Given the description of an element on the screen output the (x, y) to click on. 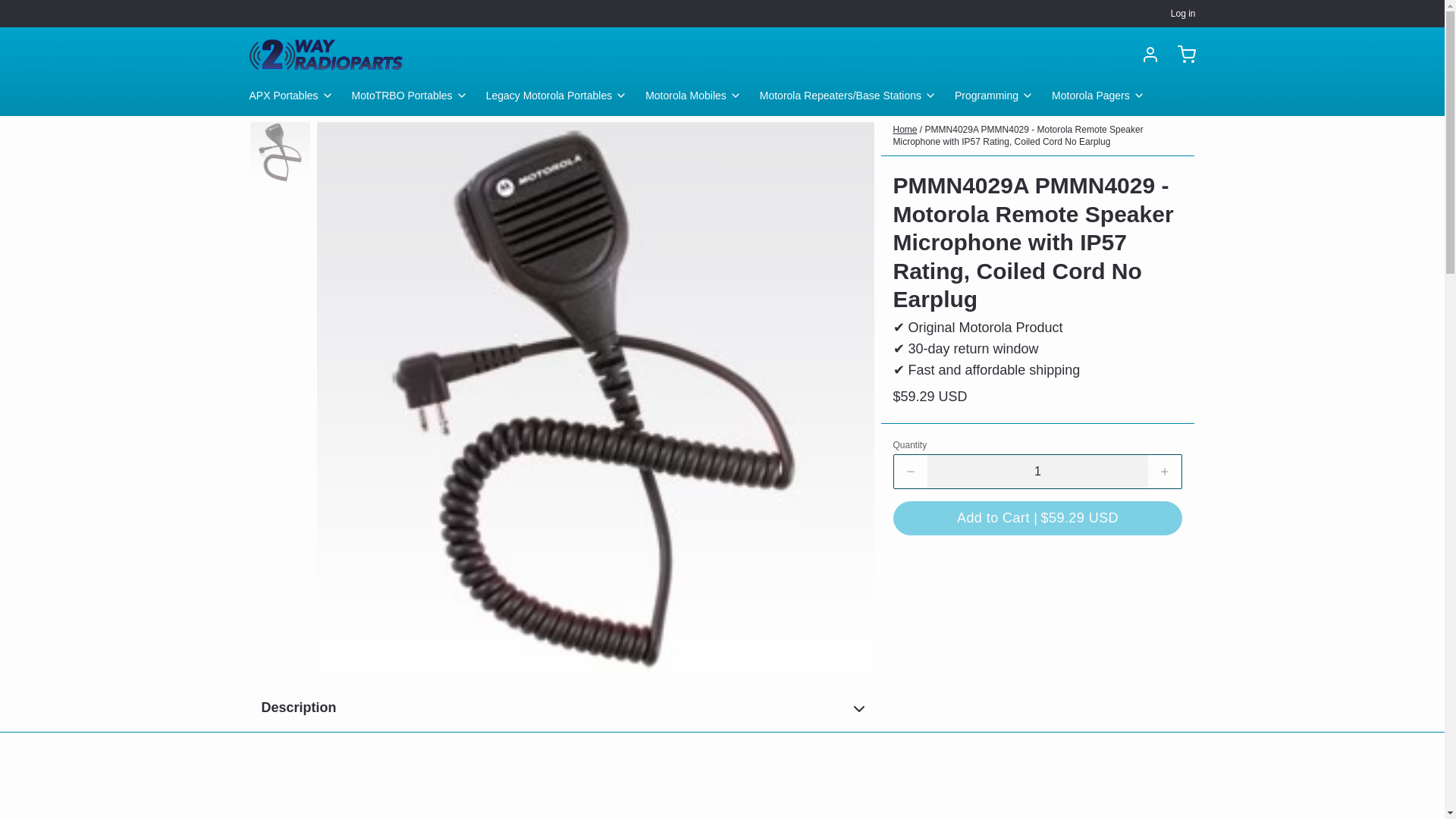
 Log in (1143, 54)
1 (1037, 471)
Log in (1182, 13)
Increase quantity (1164, 471)
APX Portables (296, 98)
Cart (1179, 54)
2WayRadioParts (325, 54)
Home (905, 129)
Decrease quantity (909, 471)
